Given the description of an element on the screen output the (x, y) to click on. 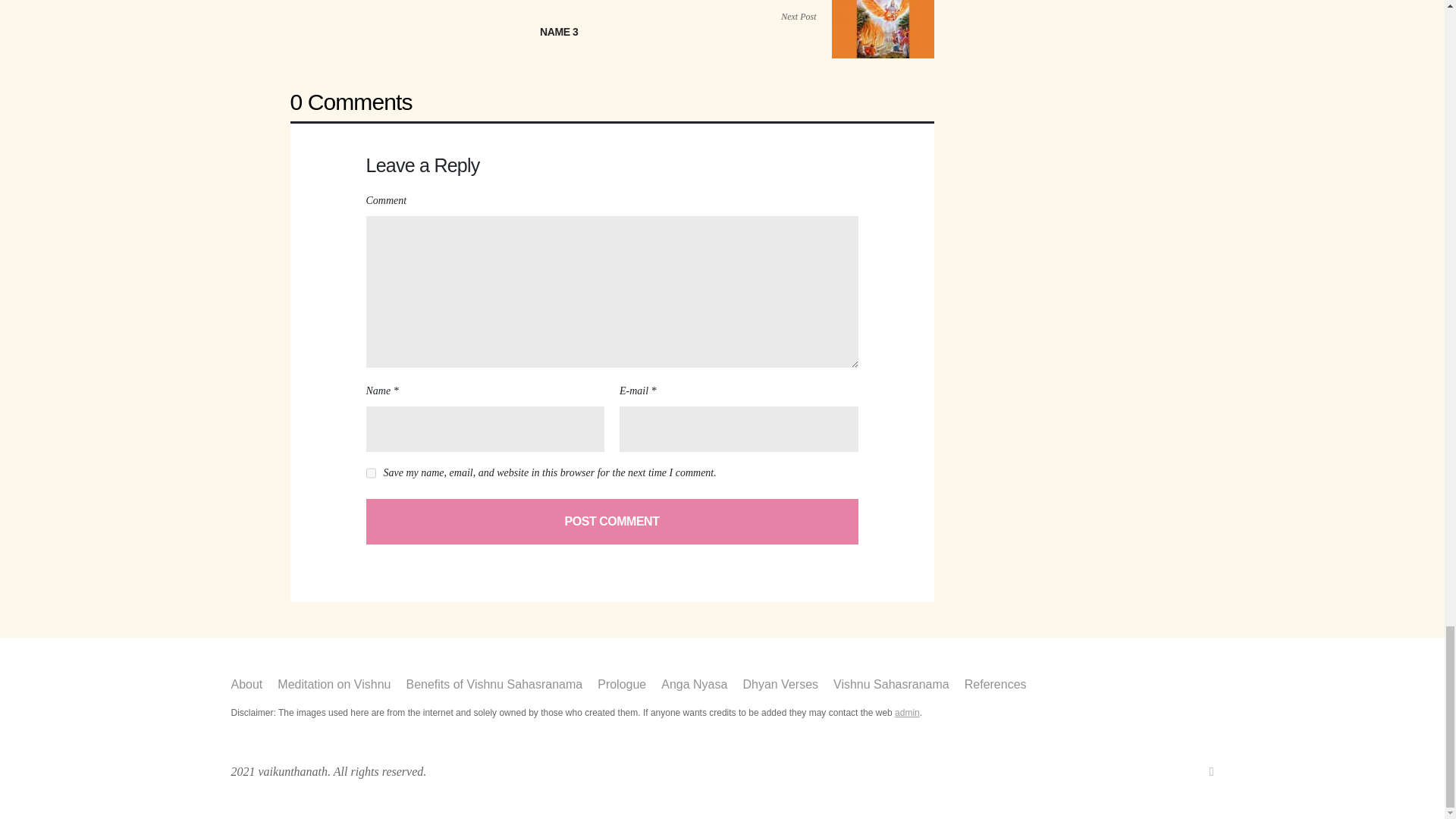
Post Comment (611, 521)
